Given the description of an element on the screen output the (x, y) to click on. 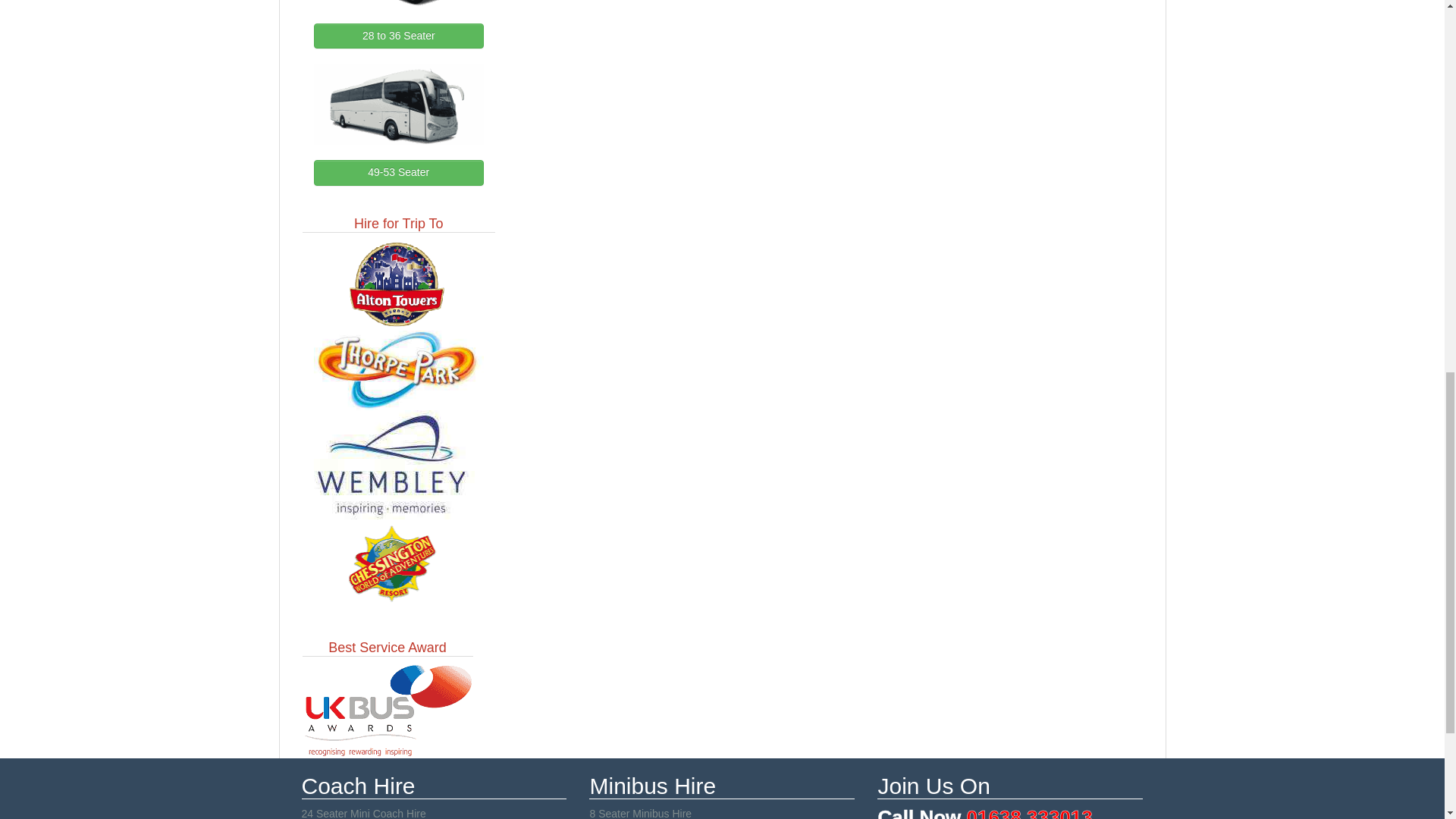
28 to 36 Seater (399, 35)
24 Seater Mini Coach Hire (363, 813)
49-53 Seater (399, 172)
